Given the description of an element on the screen output the (x, y) to click on. 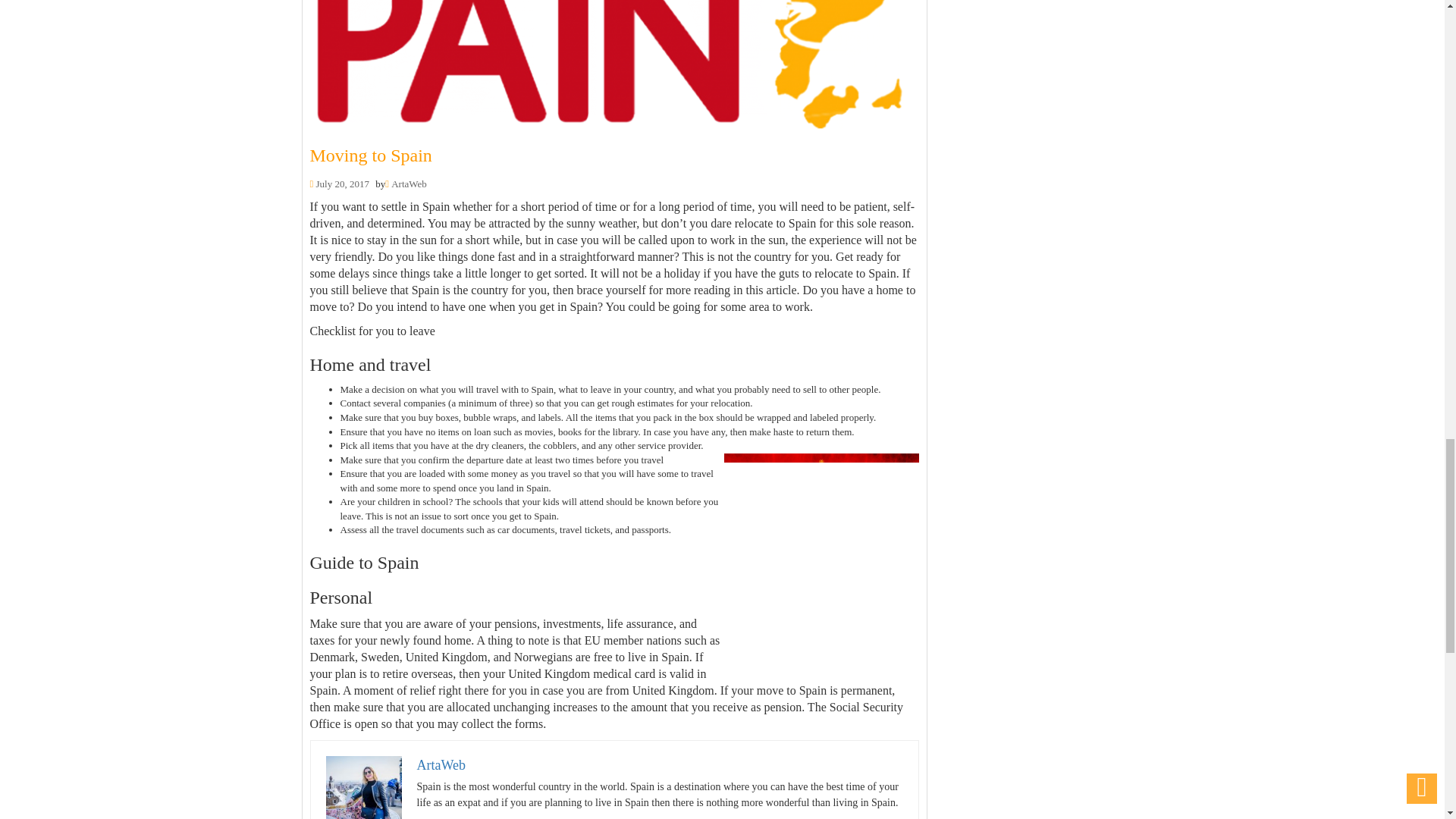
July 20, 2017 (341, 183)
Moving to Spain (369, 155)
ArtaWeb (440, 765)
ArtaWeb (408, 183)
